Given the description of an element on the screen output the (x, y) to click on. 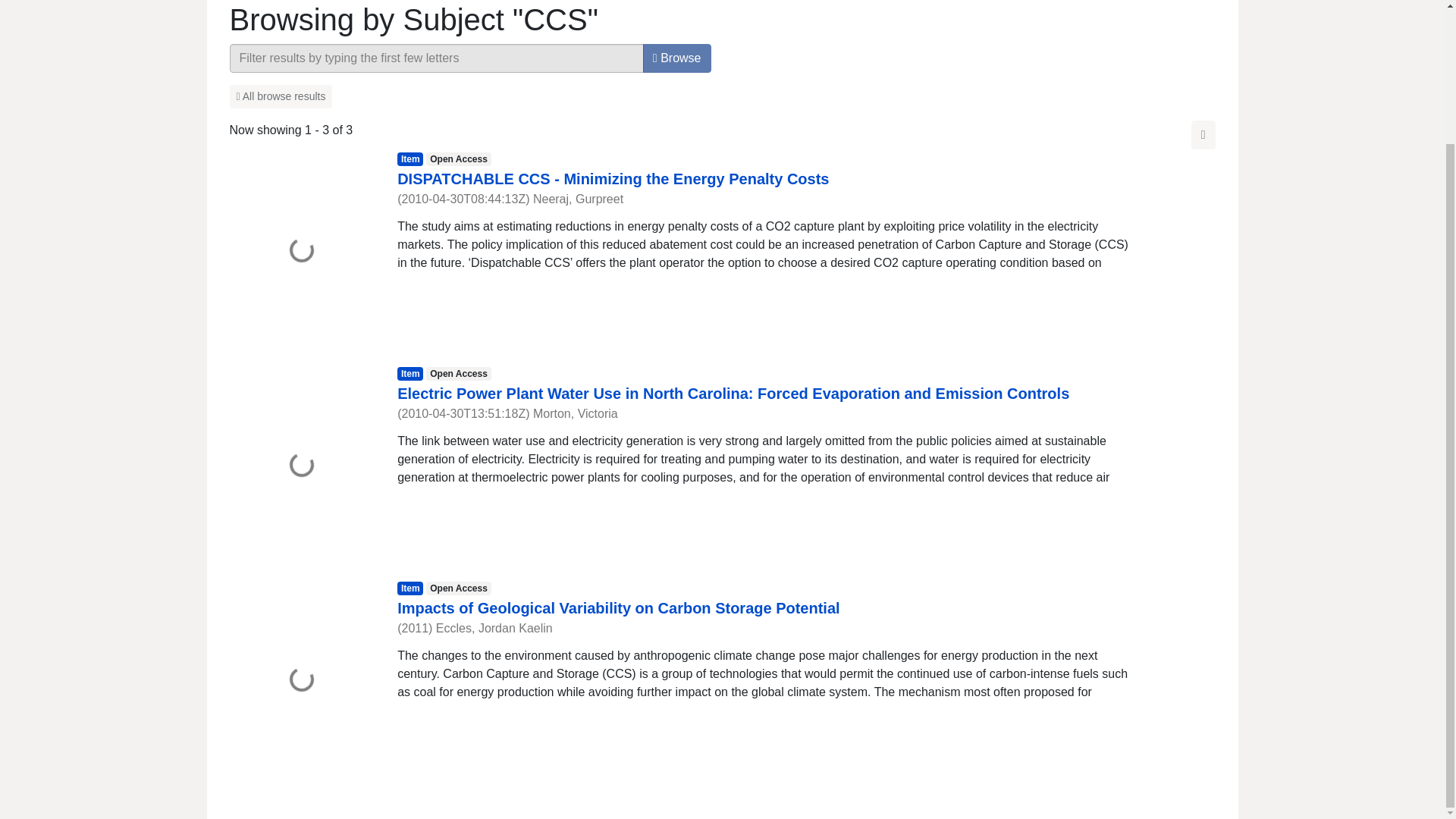
Pagination options (1203, 134)
Browse (677, 58)
Loading... (301, 466)
All browse results (279, 96)
Loading... (301, 251)
DISPATCHABLE CCS - Minimizing the Energy Penalty Costs (612, 178)
